Given the description of an element on the screen output the (x, y) to click on. 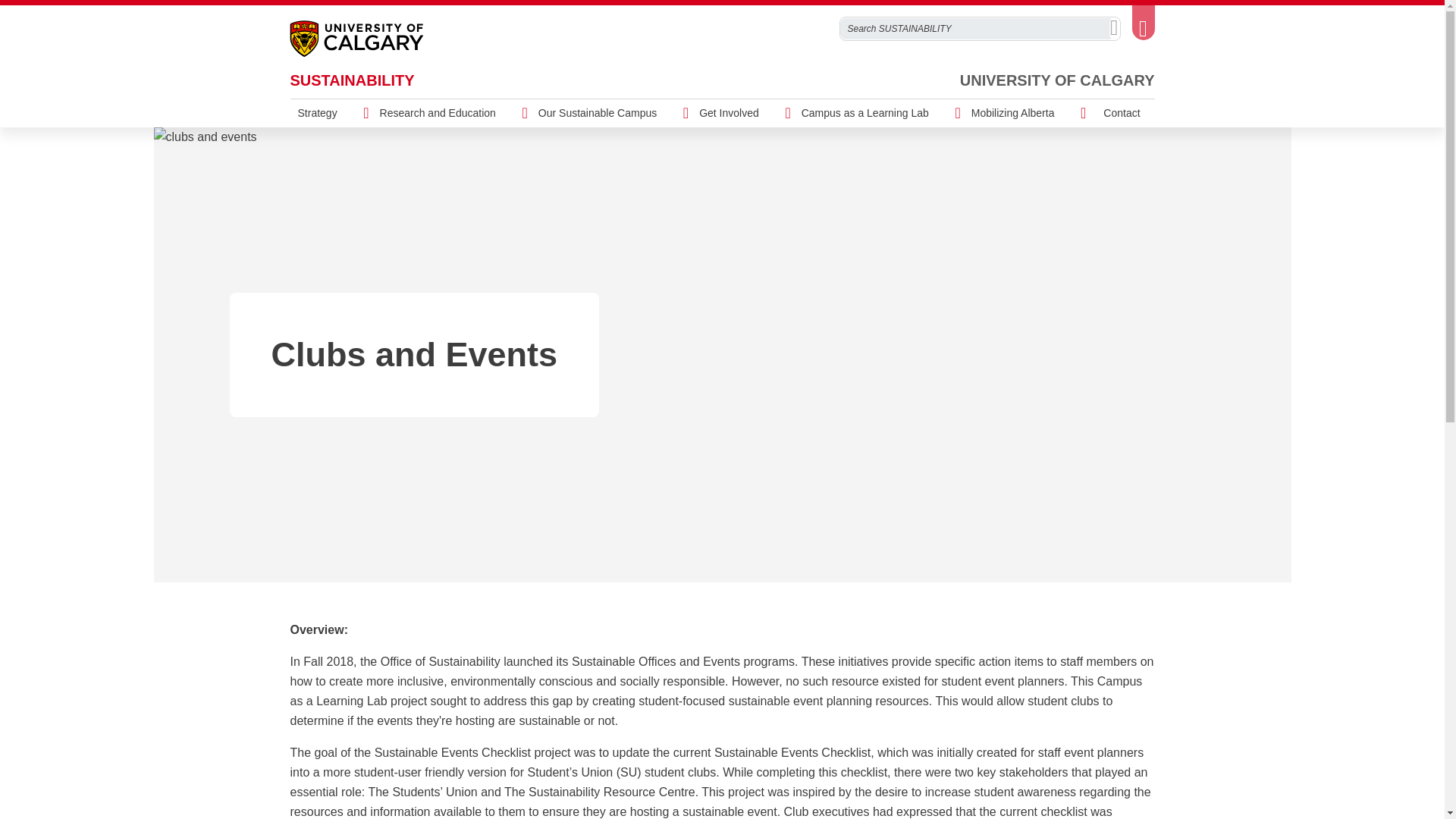
UNIVERSITY OF CALGARY (1056, 80)
